Given the description of an element on the screen output the (x, y) to click on. 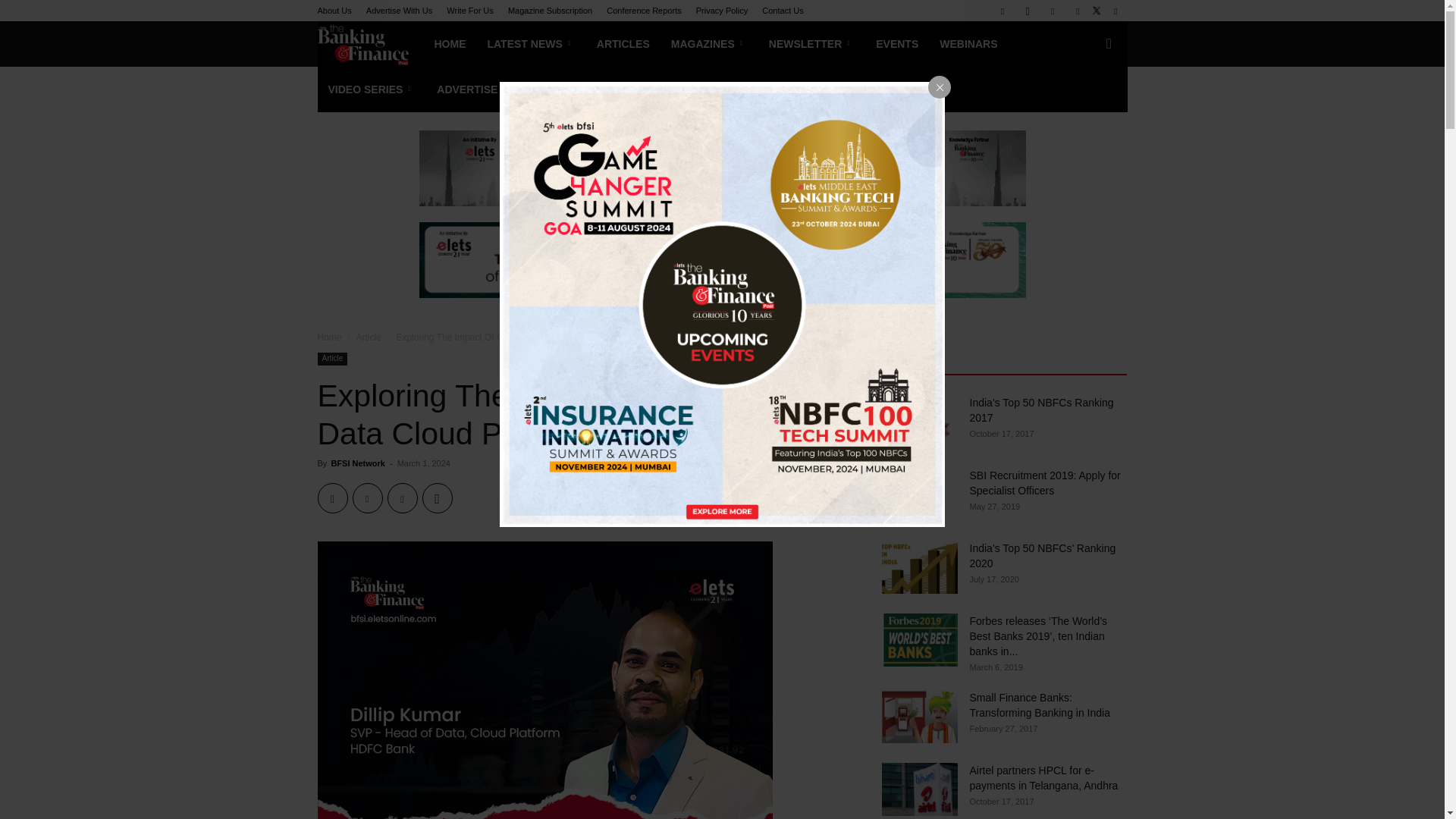
View all posts in Article (367, 337)
Instagram (1027, 10)
Facebook (1002, 10)
Facebook (332, 498)
Pinterest (401, 498)
WhatsApp (436, 498)
Youtube (1114, 10)
Twitter (366, 498)
Pinterest (1077, 10)
Linkedin (1052, 10)
